Given the description of an element on the screen output the (x, y) to click on. 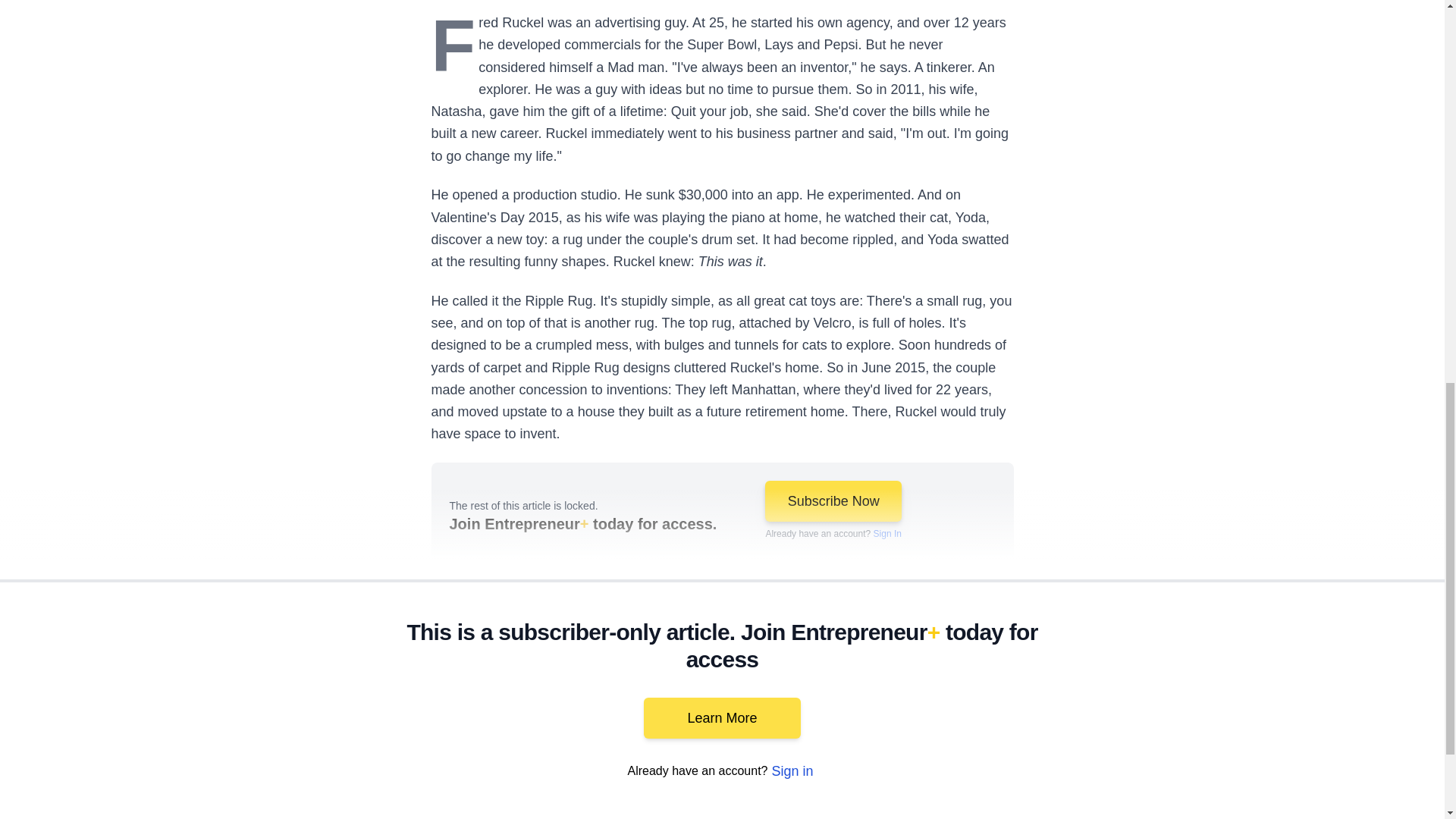
twitter (909, 804)
snapchat (1121, 804)
rss (1164, 804)
tiktok (1079, 804)
instagram (1037, 804)
youtube (994, 804)
facebook (866, 804)
linkedin (952, 804)
